Given the description of an element on the screen output the (x, y) to click on. 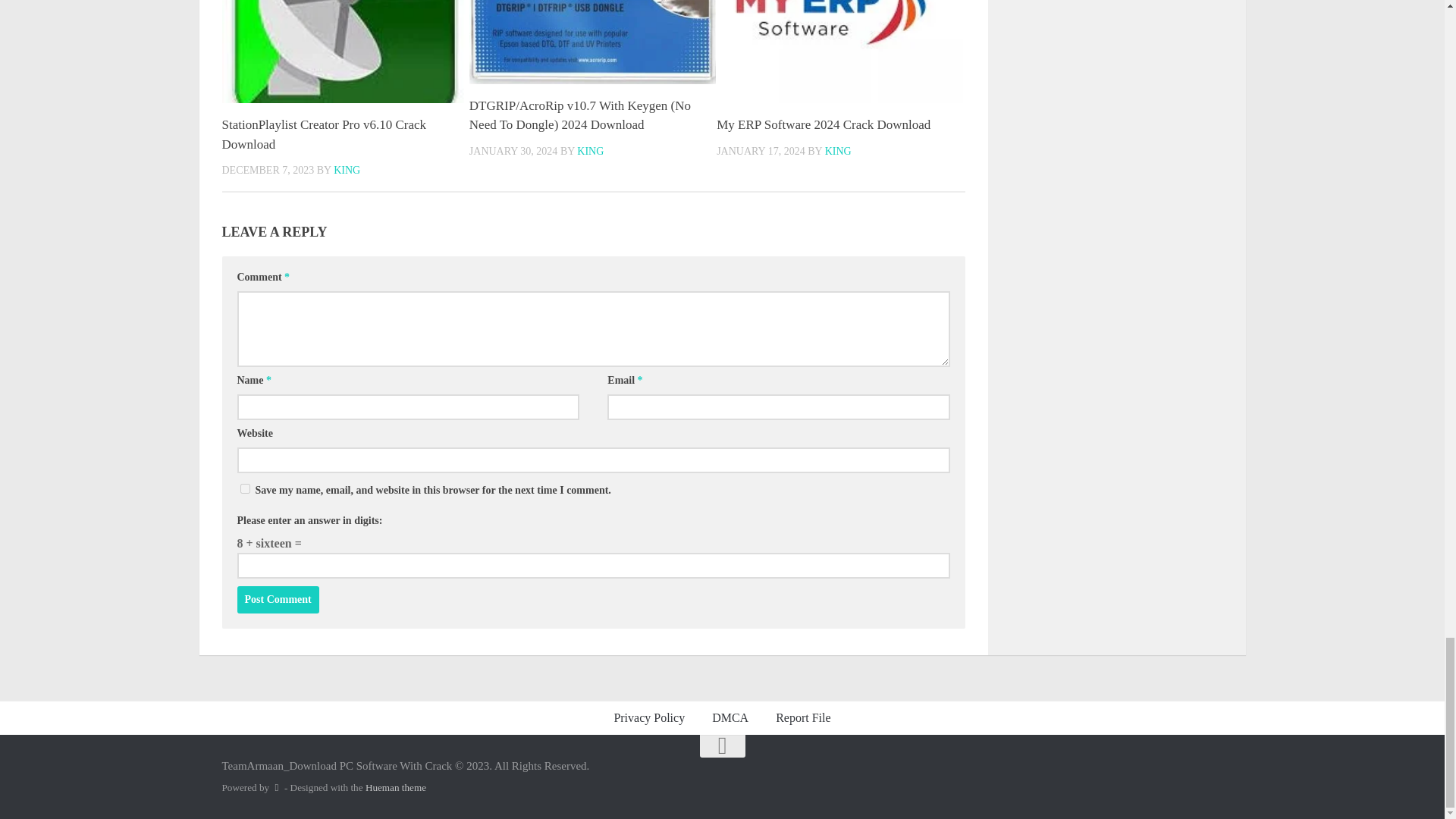
Post Comment (276, 599)
Posts by King (838, 151)
yes (244, 488)
Posts by King (346, 170)
Posts by King (590, 151)
